Given the description of an element on the screen output the (x, y) to click on. 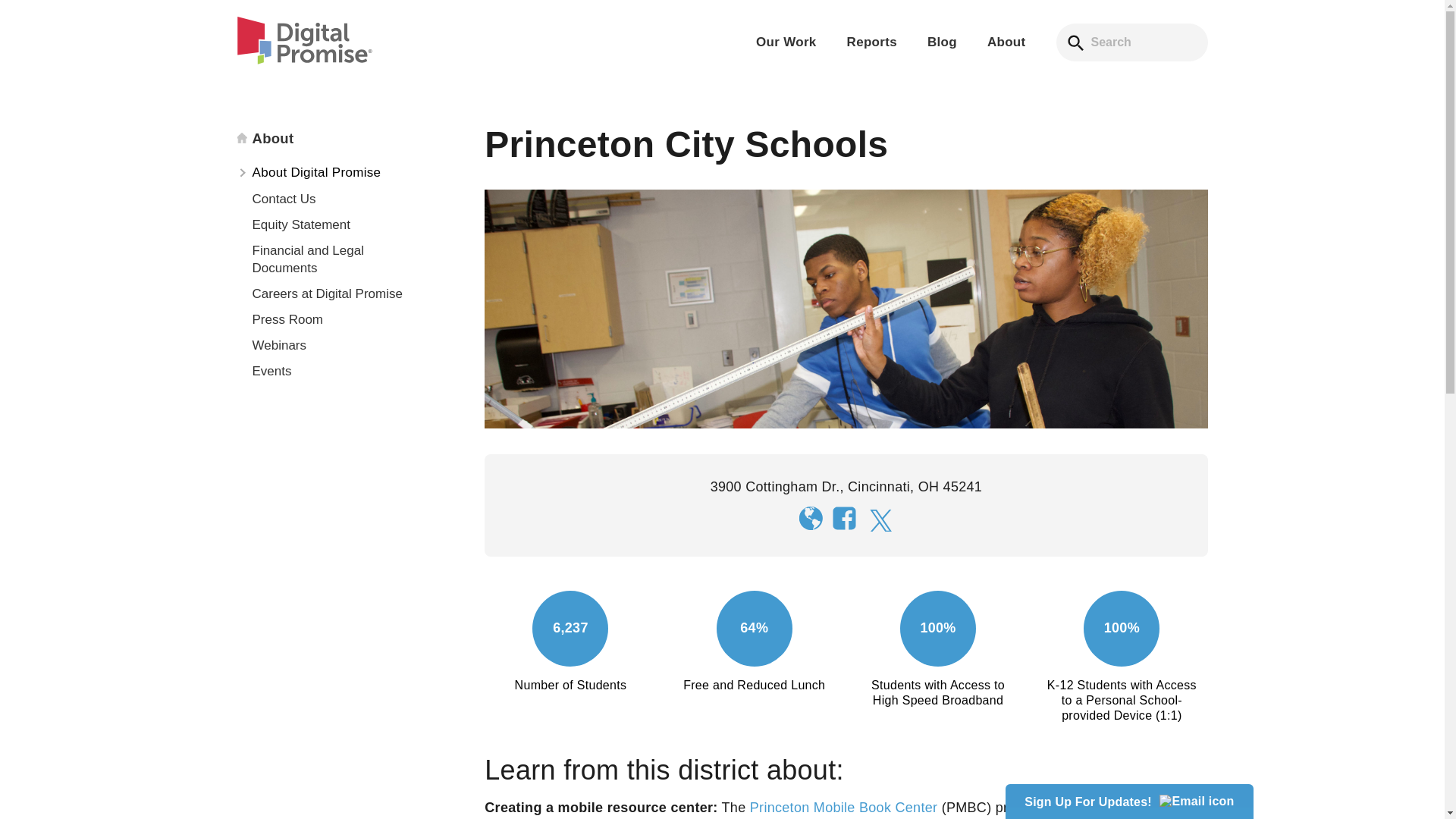
Blog (941, 42)
Our Work (785, 42)
research (566, 54)
verizon-innovative-learning-schools (791, 90)
About (1006, 42)
Blog (941, 42)
Digital Promise (309, 69)
About (1006, 42)
About (330, 138)
Events (330, 371)
inclusive-innovation (880, 54)
Reports (871, 42)
digital-equity (655, 54)
Careers at Digital Promise (330, 294)
Equity Statement (330, 225)
